Given the description of an element on the screen output the (x, y) to click on. 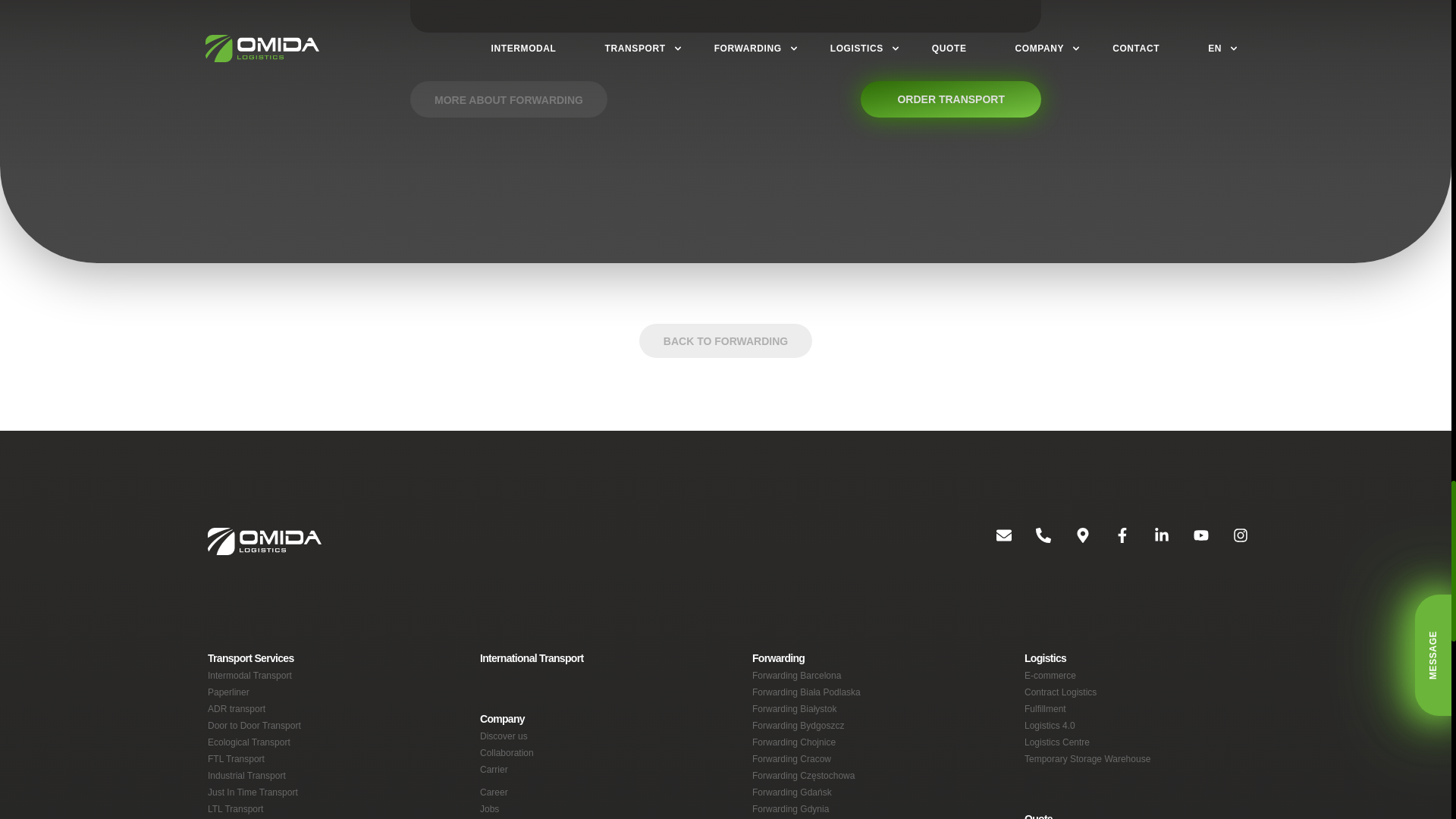
youtube (1188, 541)
address (1070, 541)
facebook (1109, 541)
instagram (1227, 541)
linkedin (1149, 541)
phone (1031, 541)
email (991, 541)
